Given the description of an element on the screen output the (x, y) to click on. 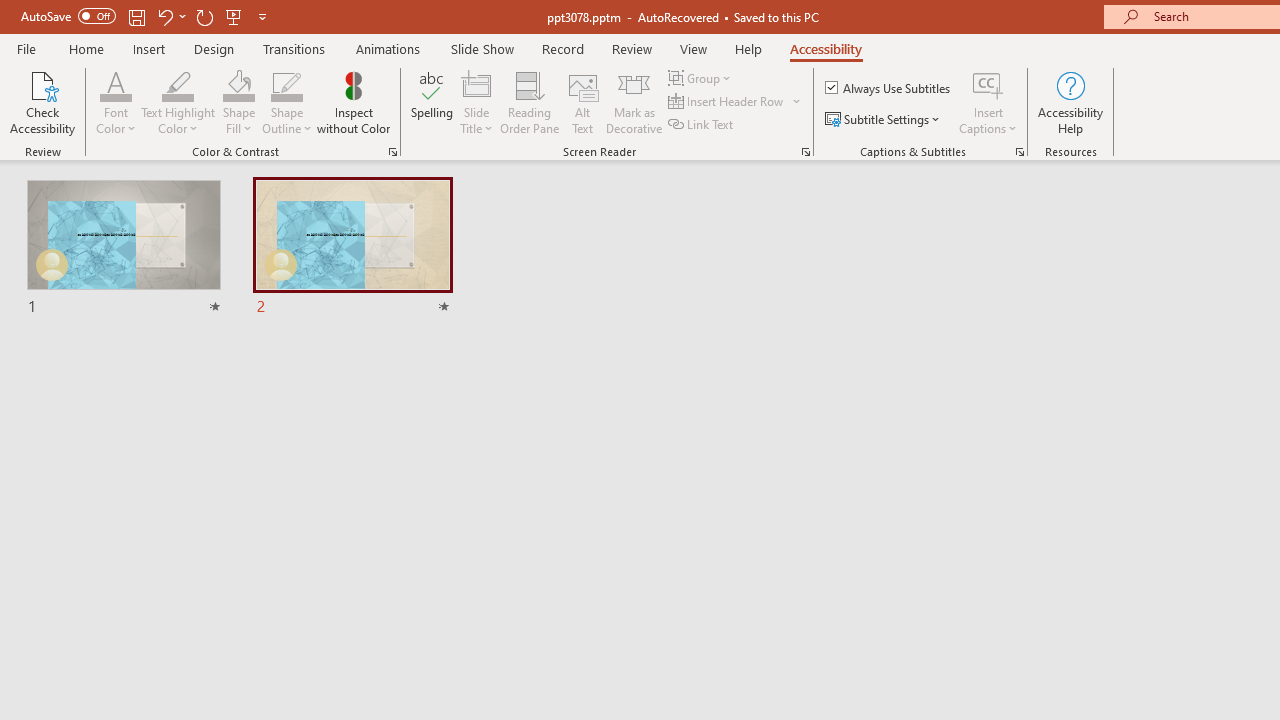
Mark as Decorative (634, 102)
Insert Header Row (727, 101)
